Given the description of an element on the screen output the (x, y) to click on. 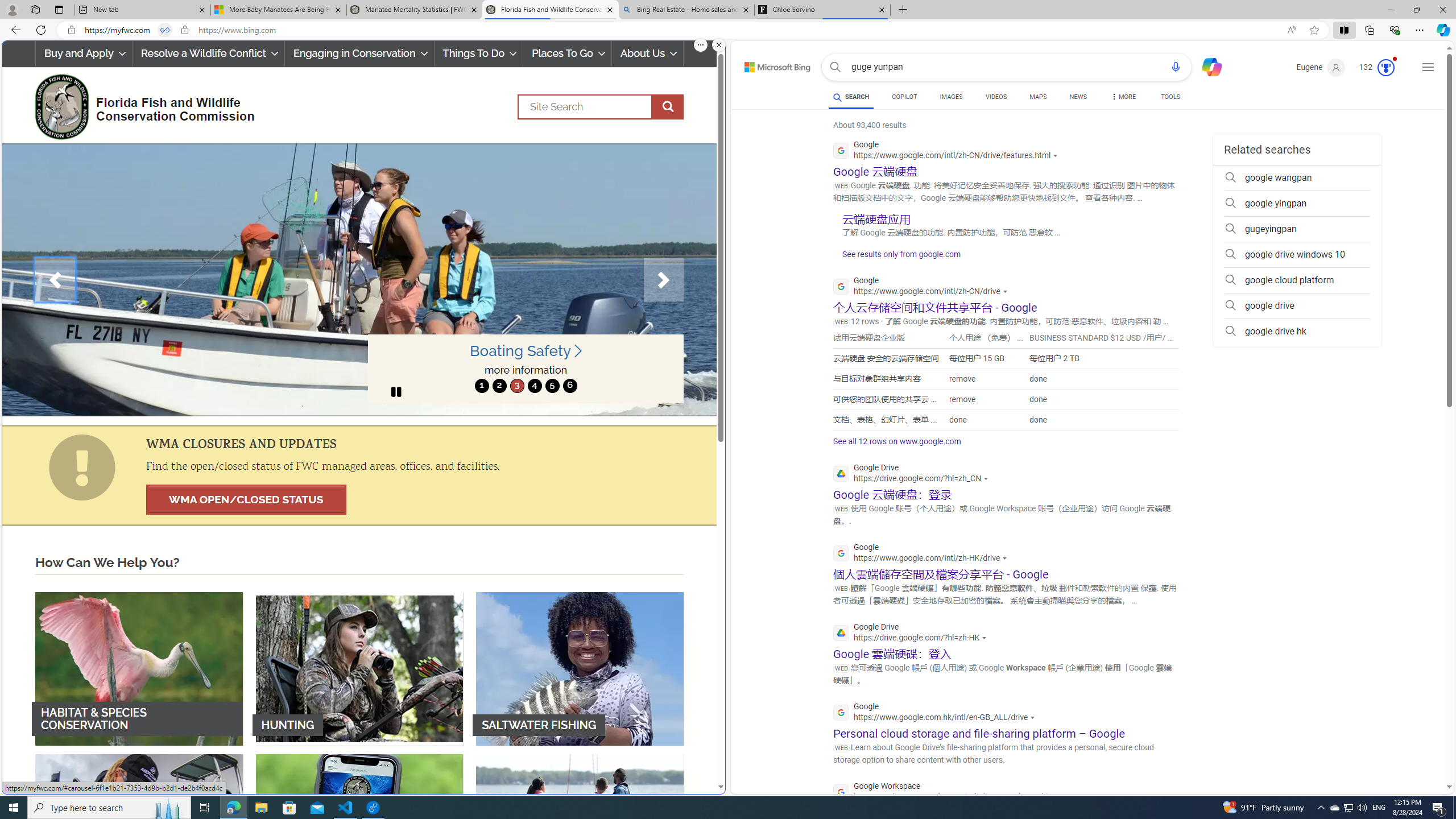
More options. (700, 45)
3 (516, 385)
MAPS (1038, 96)
About Us (647, 53)
4 (534, 385)
IMAGES (950, 96)
google drive hk (1297, 331)
Restore (1416, 9)
Places To Go (566, 53)
Chat (1207, 65)
Buy and Apply (84, 53)
FWC Logo Florida Fish and Wildlife Conservation Commission (139, 104)
Search more (1423, 753)
